Given the description of an element on the screen output the (x, y) to click on. 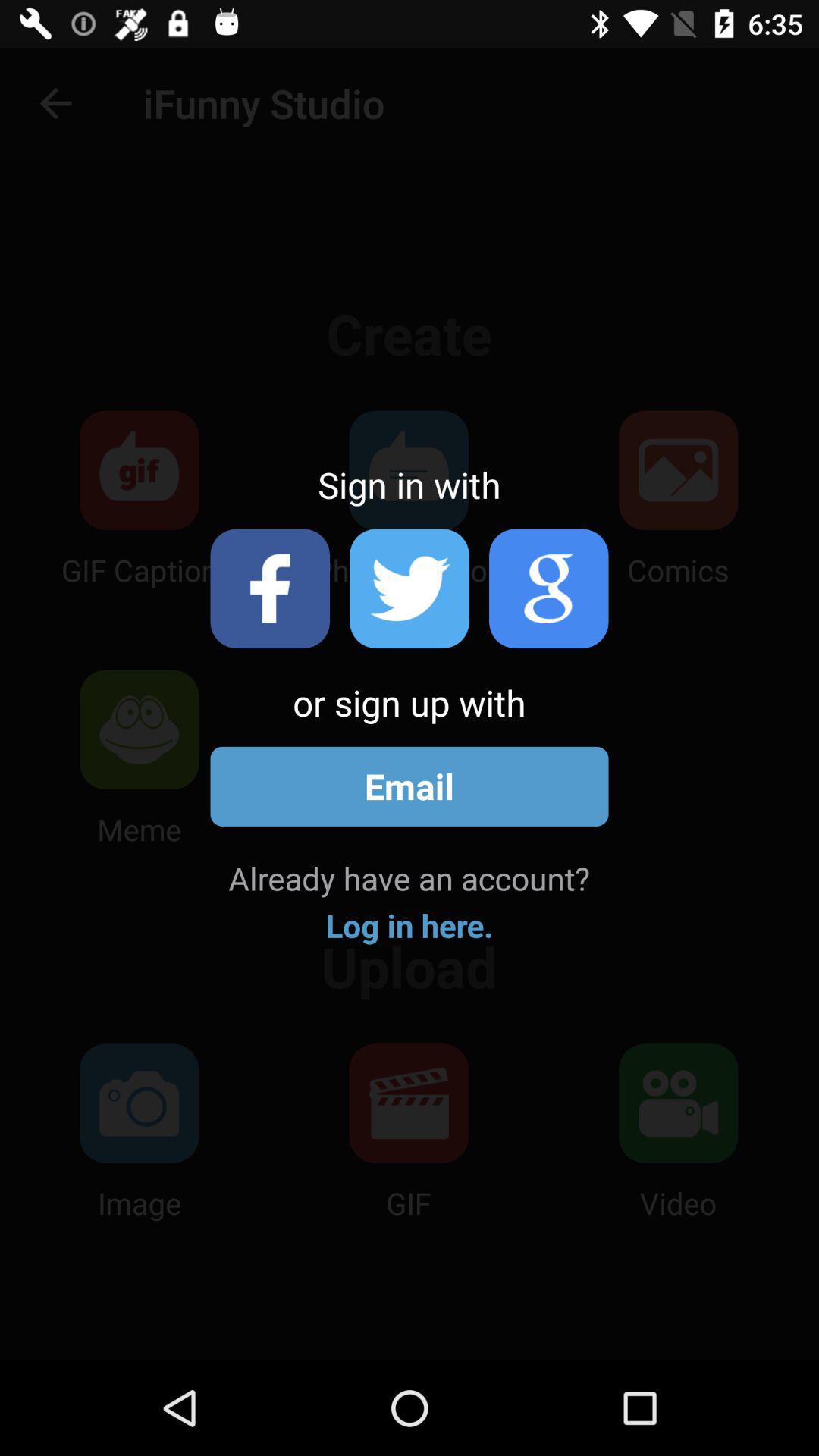
sign in with google profile (548, 588)
